Given the description of an element on the screen output the (x, y) to click on. 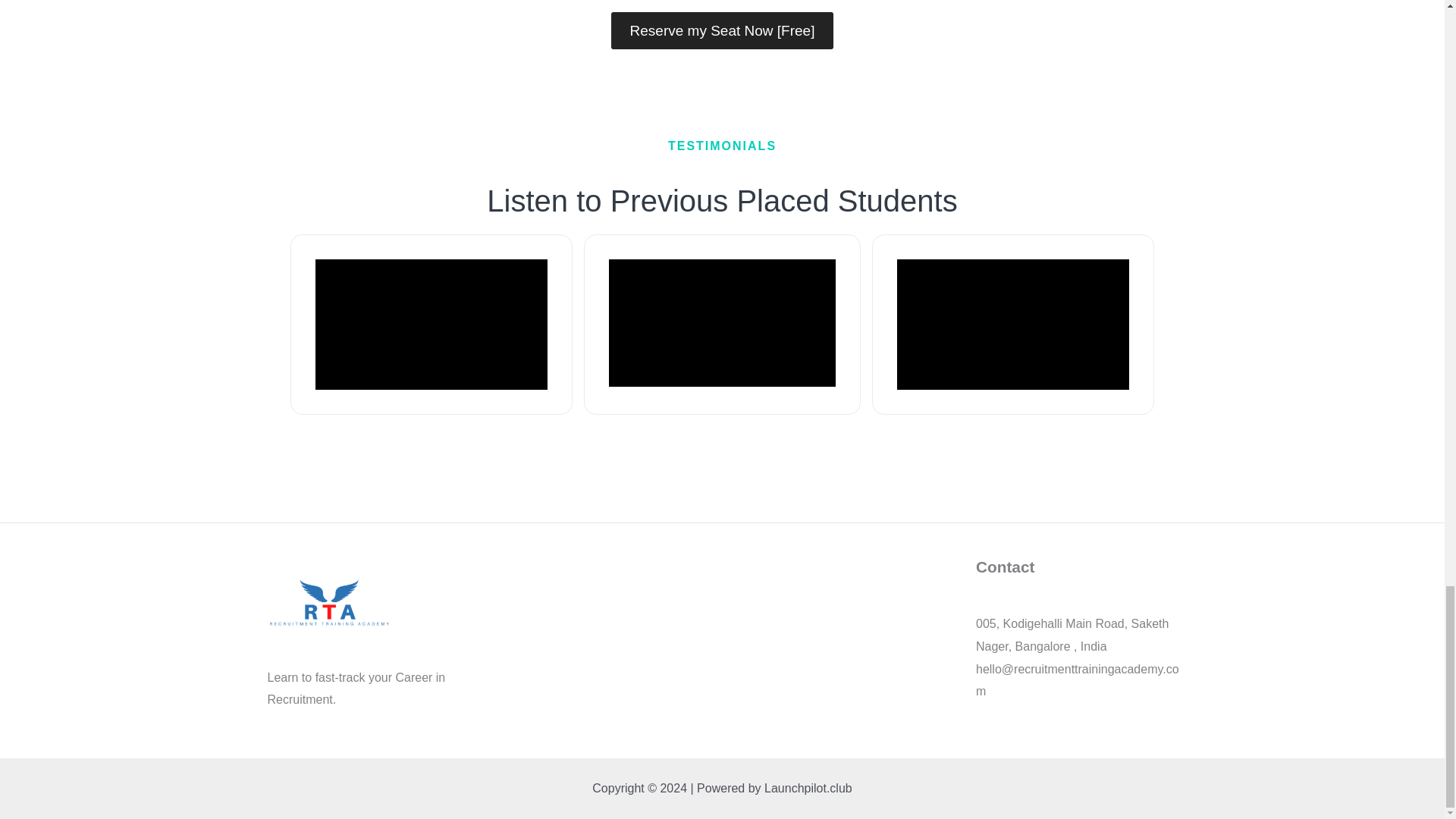
vimeo Video Player (1012, 324)
vimeo Video Player (431, 324)
vimeo Video Player (721, 322)
